Given the description of an element on the screen output the (x, y) to click on. 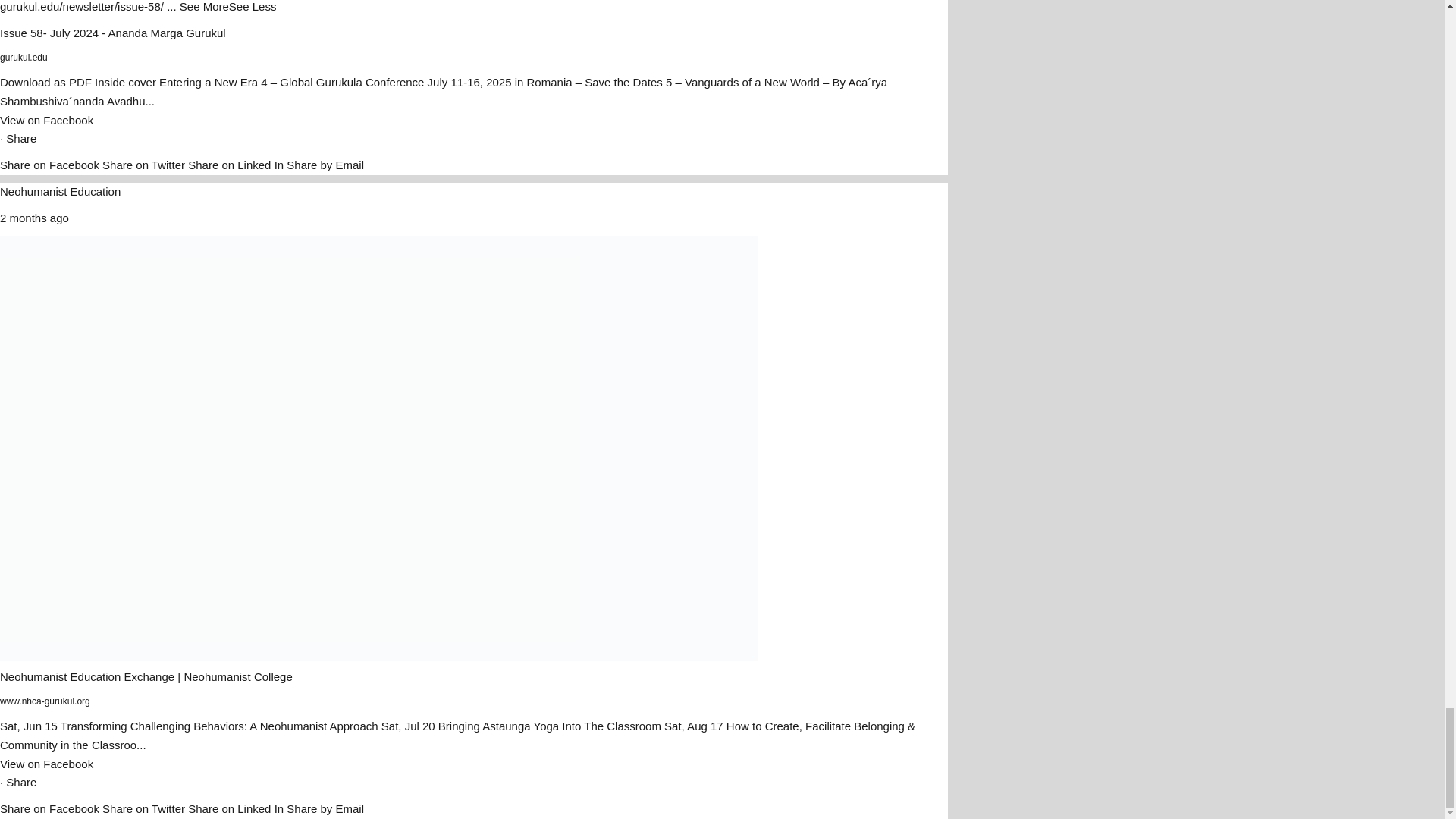
View on Facebook (46, 119)
Share (20, 781)
View on Facebook (46, 763)
Share (20, 137)
